Given the description of an element on the screen output the (x, y) to click on. 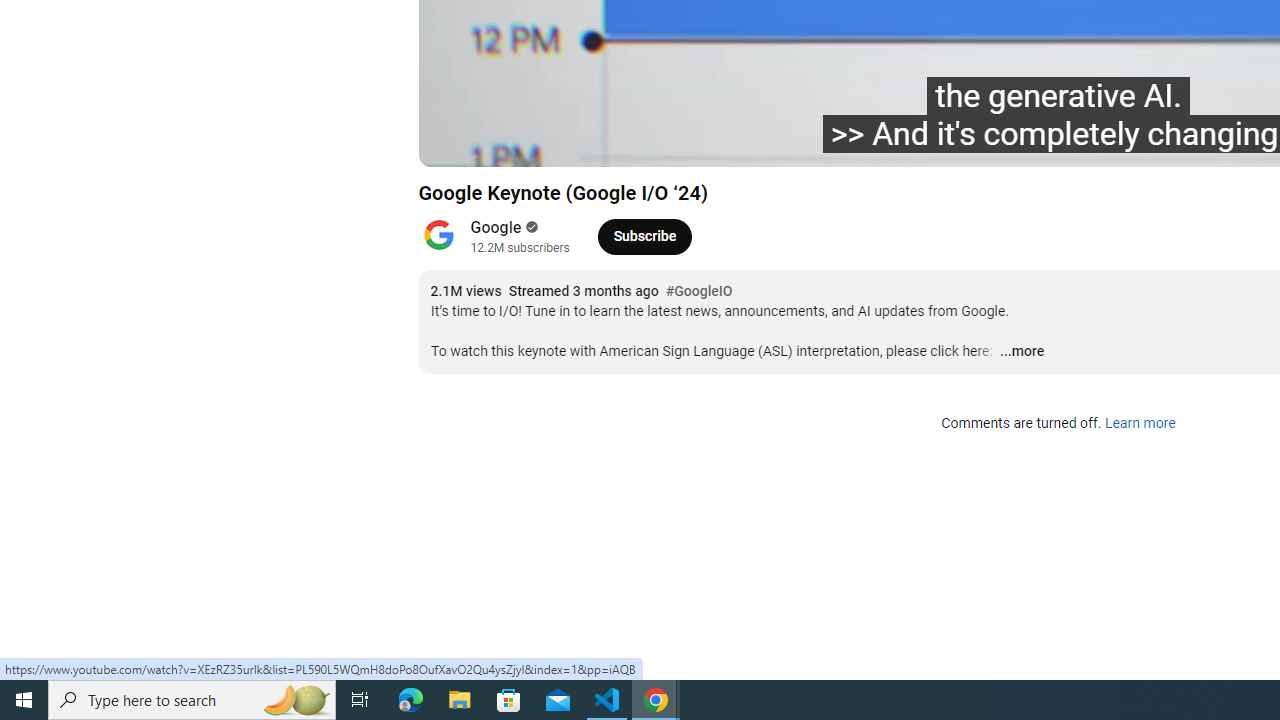
Subscribe to Google. (644, 236)
Opening Film (763, 142)
...more (1021, 352)
Play (k) (502, 142)
Mute (m) (594, 142)
Next (SHIFT+n) (546, 142)
Learn more (1139, 423)
Previous (SHIFT+p) (456, 142)
#GoogleIO (699, 291)
